Given the description of an element on the screen output the (x, y) to click on. 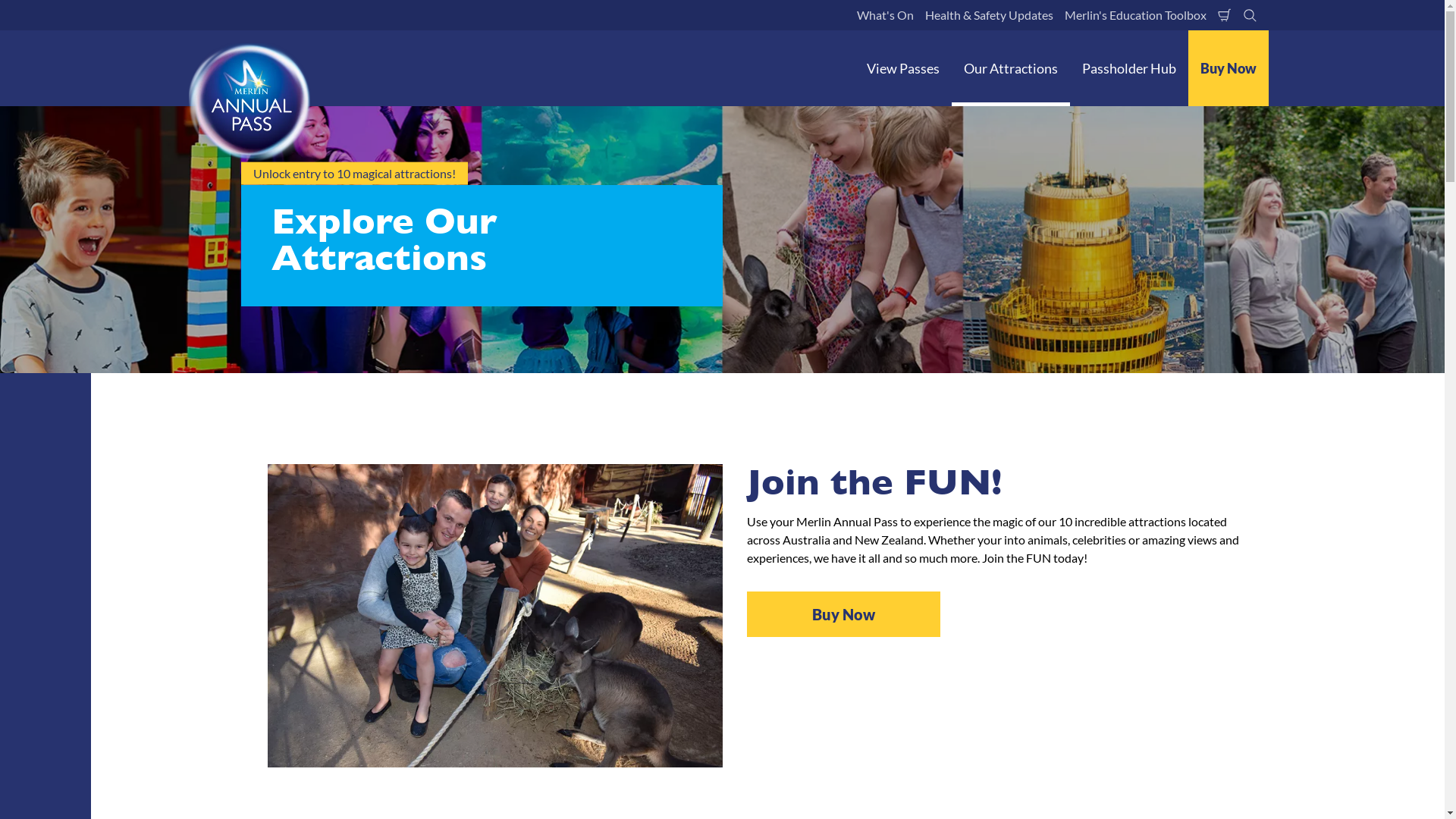
Buy Now Element type: text (842, 614)
Buy Now Element type: text (1227, 68)
Merlin's Education Toolbox Element type: text (1134, 15)
Shopping Cart Element type: text (1223, 14)
Health & Safety Updates Element type: text (988, 15)
Search Element type: text (1249, 14)
View Passes Element type: text (901, 68)
What's On Element type: text (884, 15)
Passholder Hub Element type: text (1128, 68)
Our Attractions Element type: text (1009, 68)
